Given the description of an element on the screen output the (x, y) to click on. 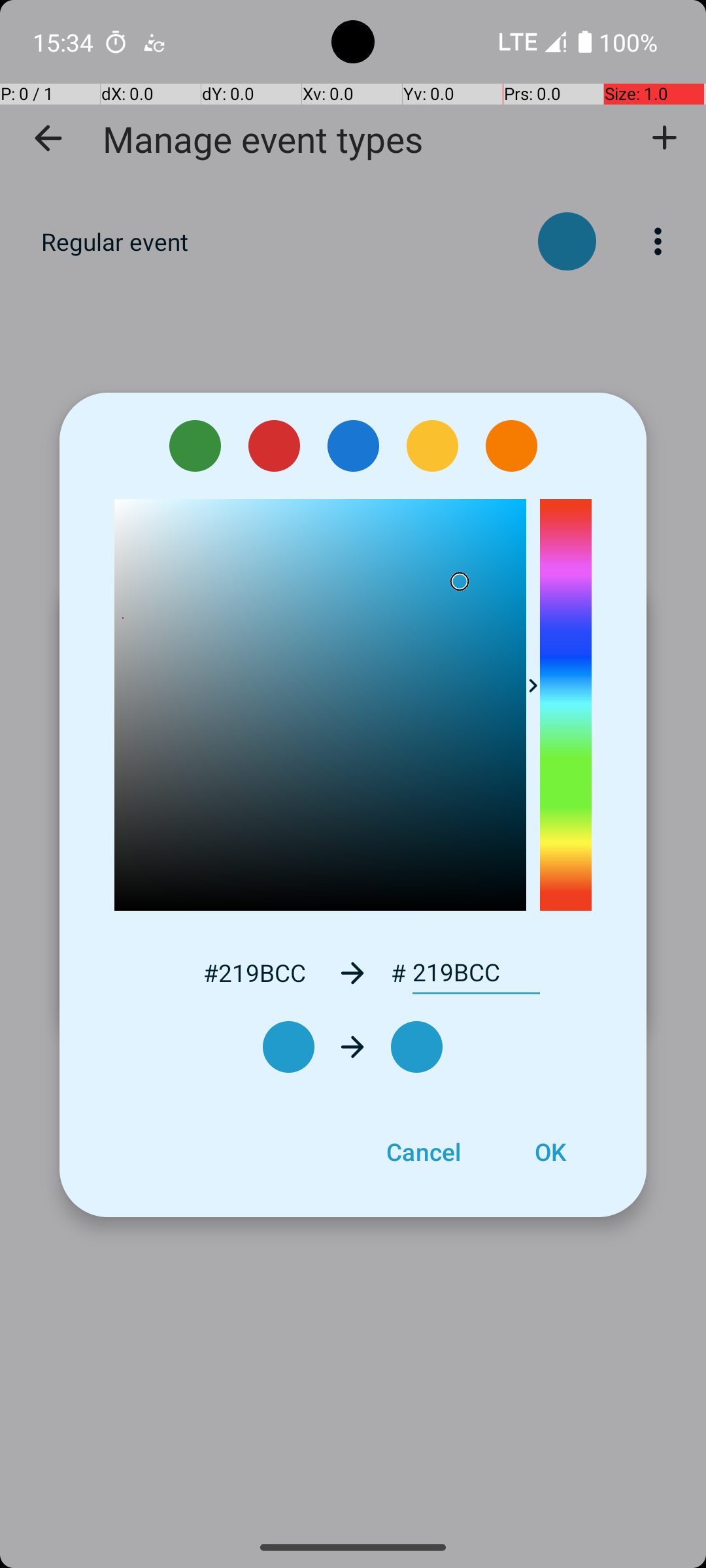
#219BCC Element type: android.widget.TextView (254, 972)
219BCC Element type: android.widget.EditText (475, 972)
